Given the description of an element on the screen output the (x, y) to click on. 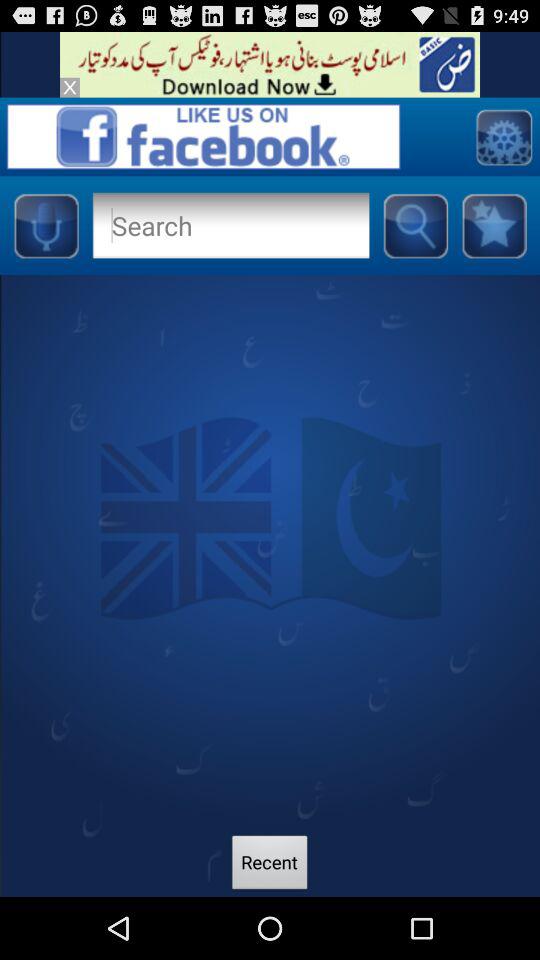
download (270, 64)
